Given the description of an element on the screen output the (x, y) to click on. 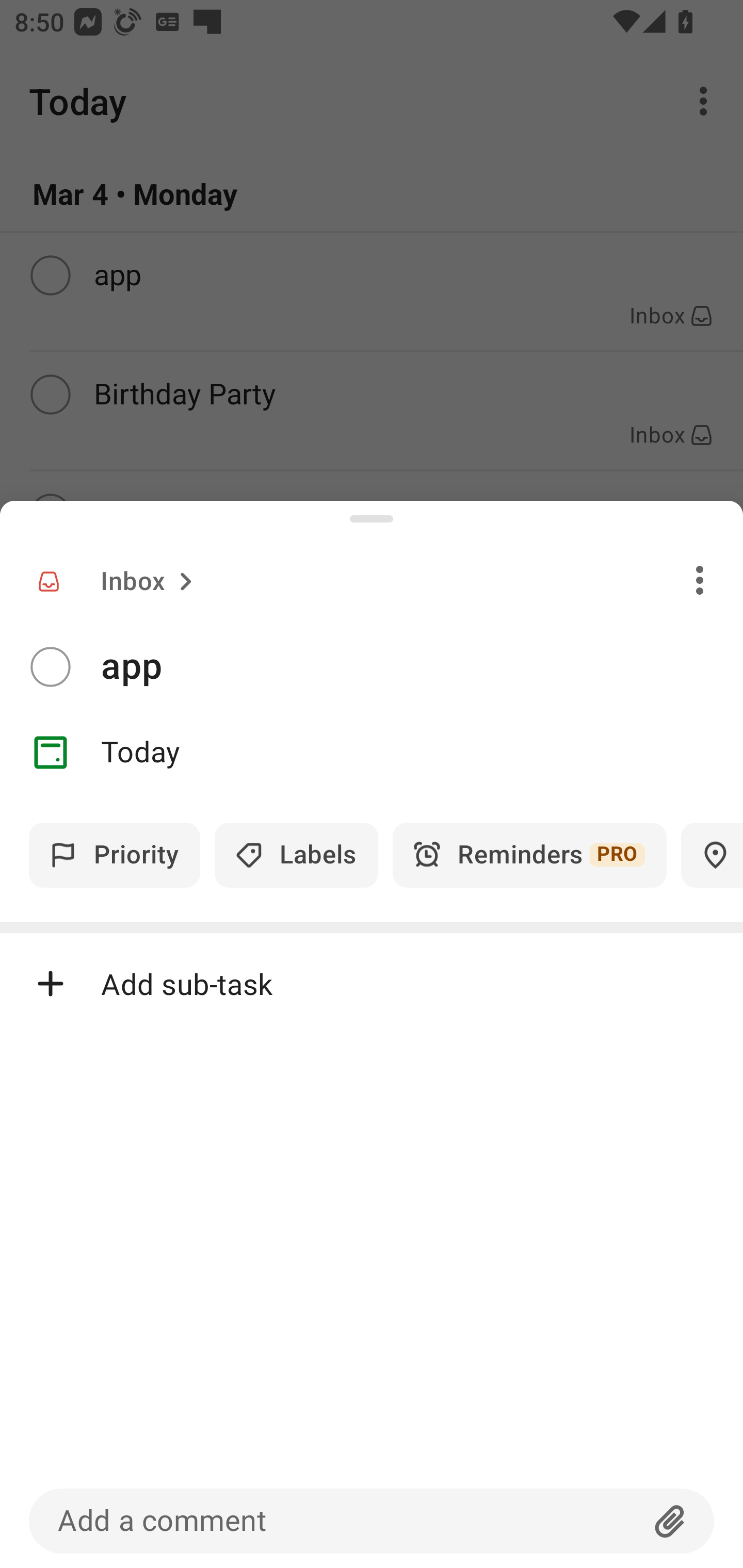
Overflow menu (699, 580)
Complete (50, 667)
app​ (422, 666)
Date Today (371, 752)
Priority (113, 855)
Labels (296, 855)
Reminders PRO (529, 855)
Locations PRO (712, 855)
Add sub-task (371, 983)
Add a comment Attachment (371, 1520)
Attachment (670, 1520)
